Given the description of an element on the screen output the (x, y) to click on. 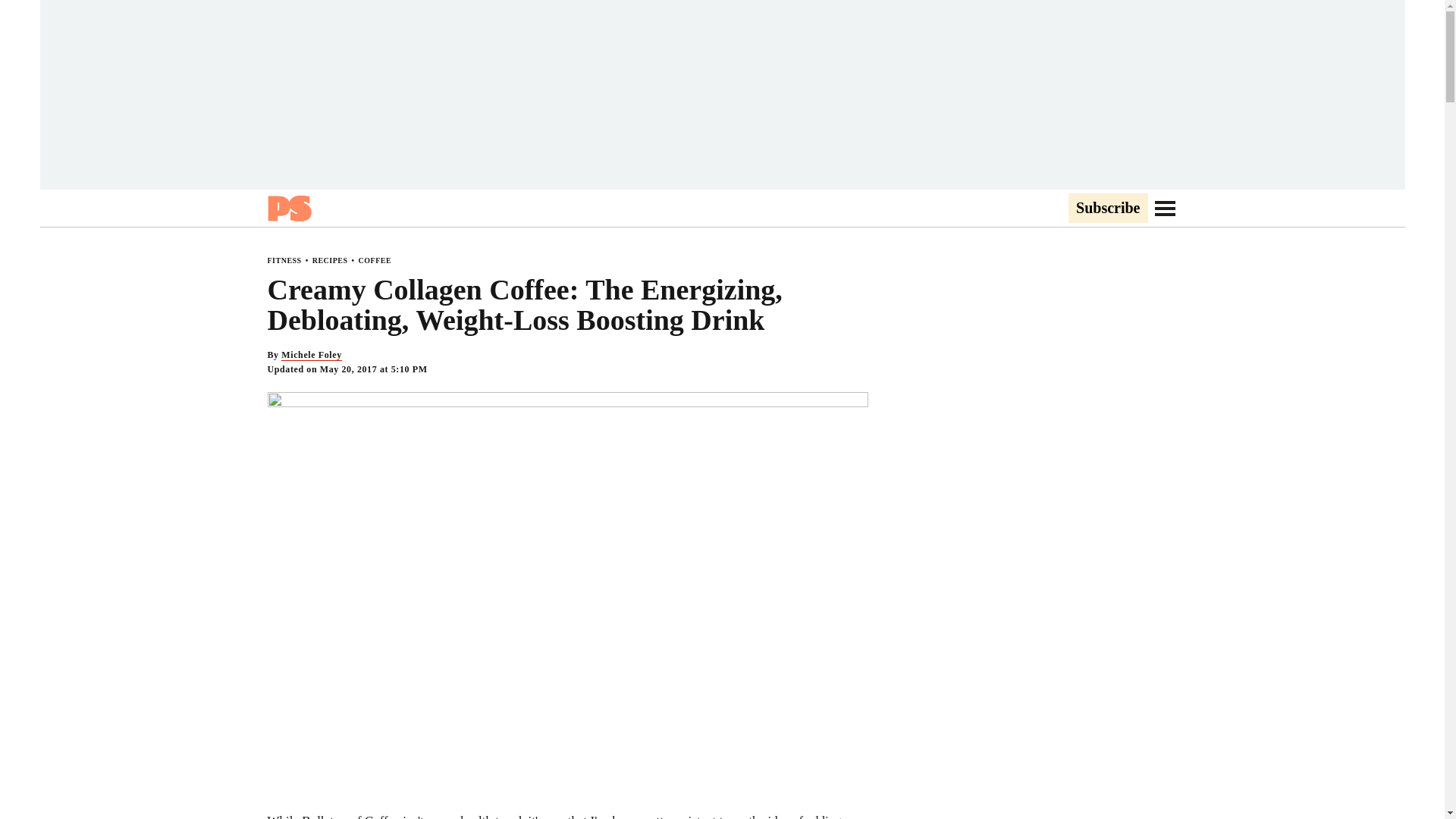
Go to Navigation (1164, 207)
Go to Navigation (1164, 207)
FITNESS (283, 260)
Michele Foley (310, 355)
Subscribe (1107, 208)
Popsugar (288, 208)
RECIPES (330, 260)
COFFEE (374, 260)
Bulletproof Coffee (349, 816)
